Given the description of an element on the screen output the (x, y) to click on. 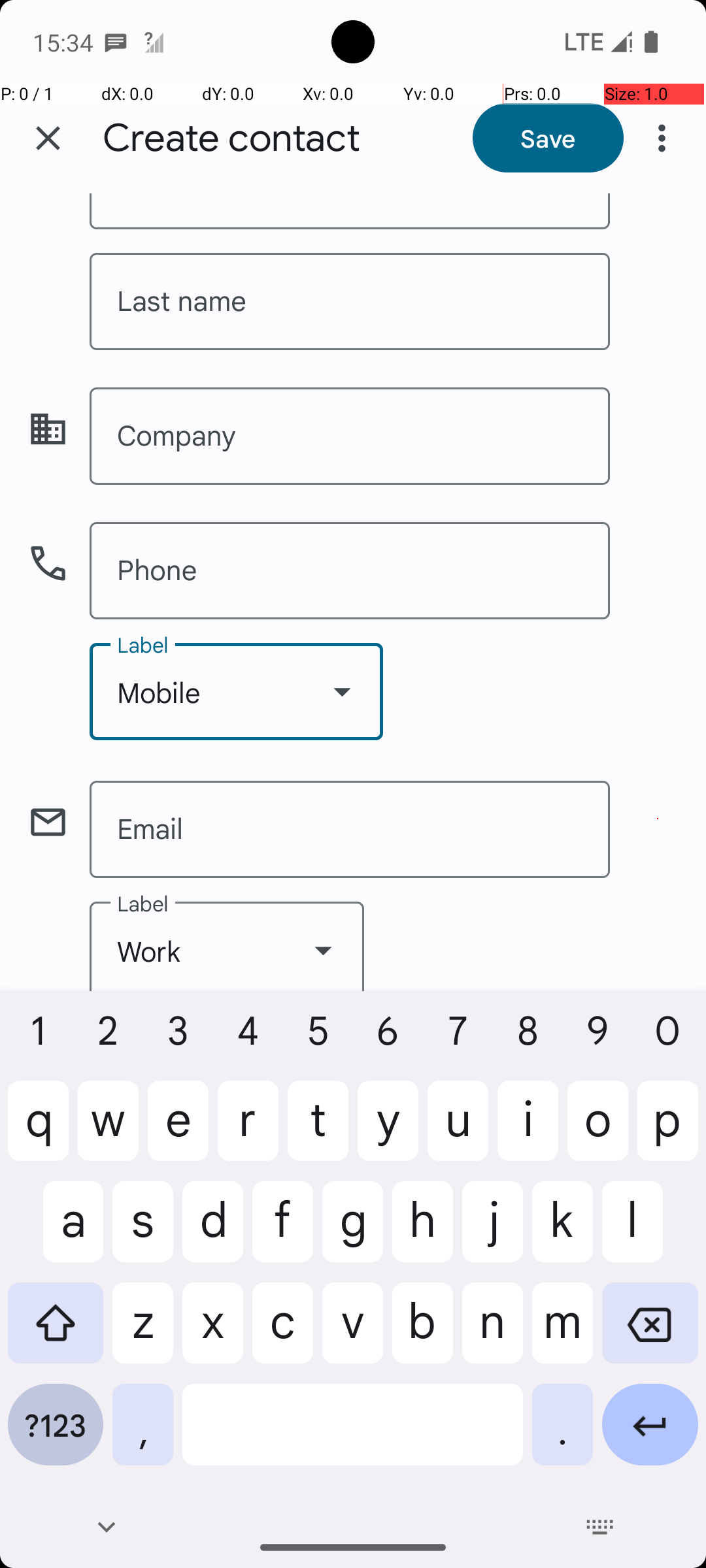
Email Element type: android.widget.EditText (349, 829)
